Given the description of an element on the screen output the (x, y) to click on. 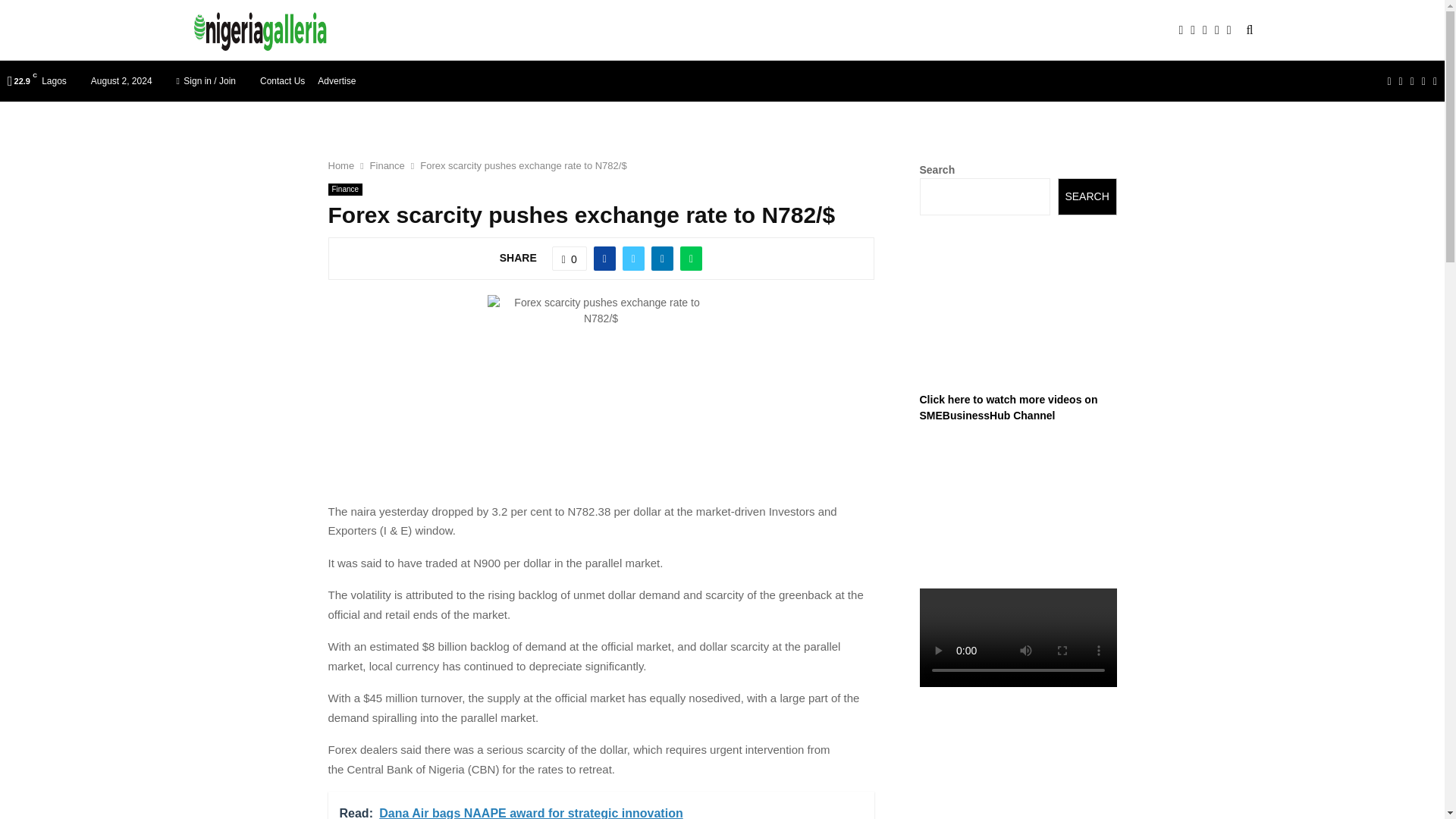
Advertise (336, 80)
Home (340, 165)
DIRECTORY (547, 30)
Like (568, 258)
Finance (386, 165)
Sign up new account (722, 447)
0 (568, 258)
Finance (344, 189)
Login to your account (722, 328)
NIGERIA GUIDE (452, 30)
Contact Us (282, 80)
